Given the description of an element on the screen output the (x, y) to click on. 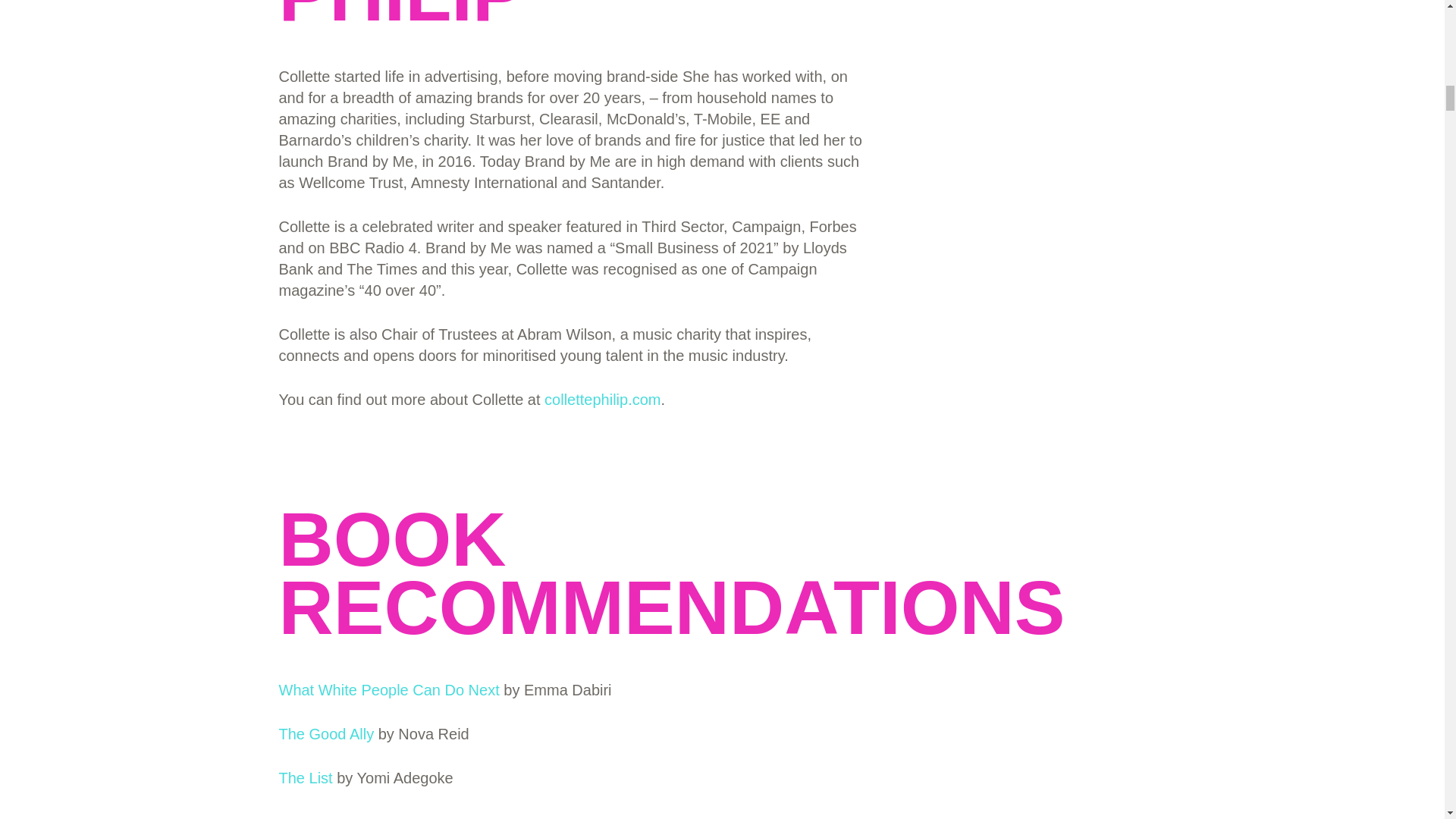
The List (306, 777)
collettephilip.com (602, 399)
The Good Ally (326, 733)
What White People Can Do Next (389, 689)
